Given the description of an element on the screen output the (x, y) to click on. 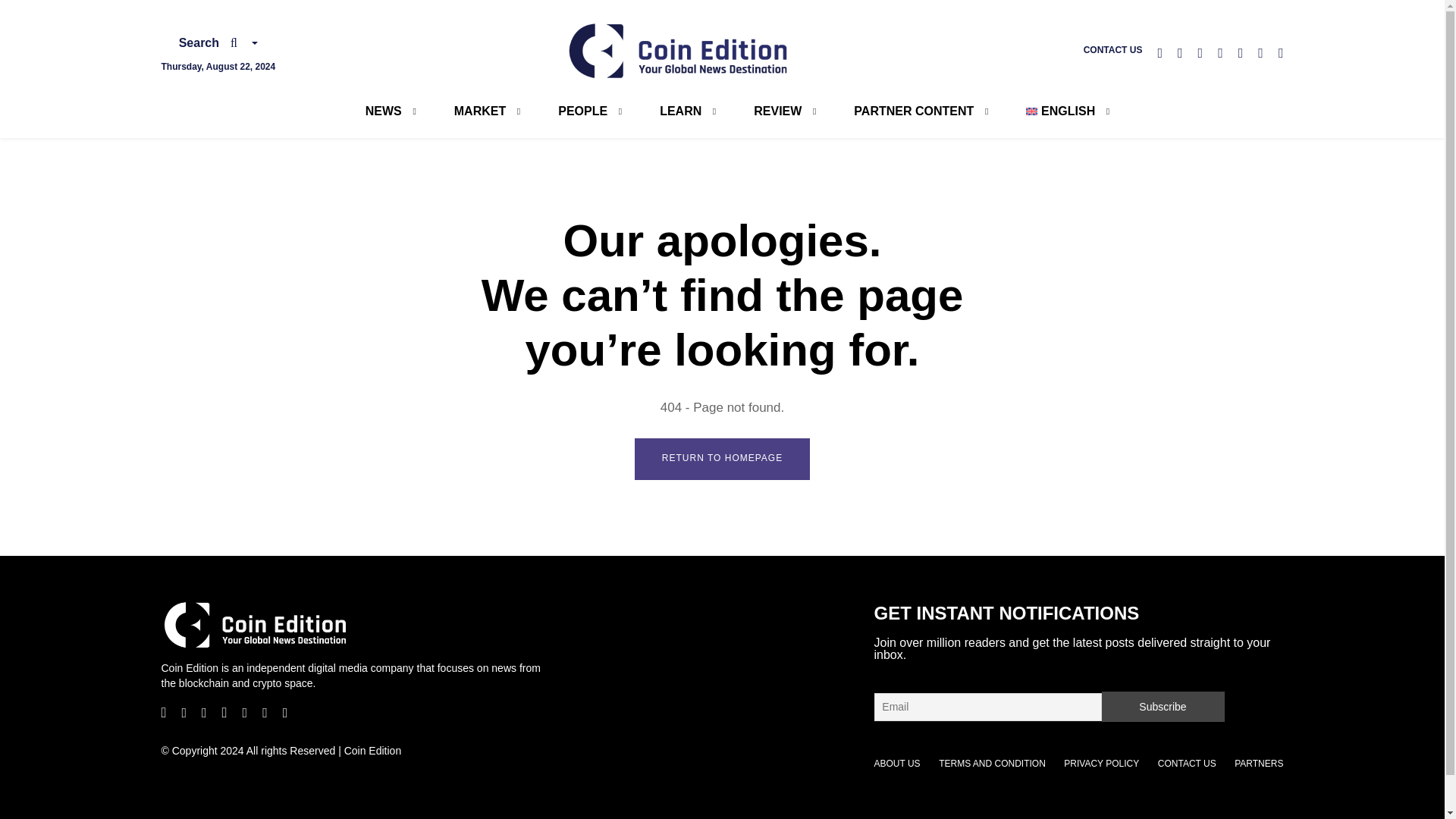
Coin Edition (679, 50)
Subscribe (1162, 706)
English (1060, 110)
